Given the description of an element on the screen output the (x, y) to click on. 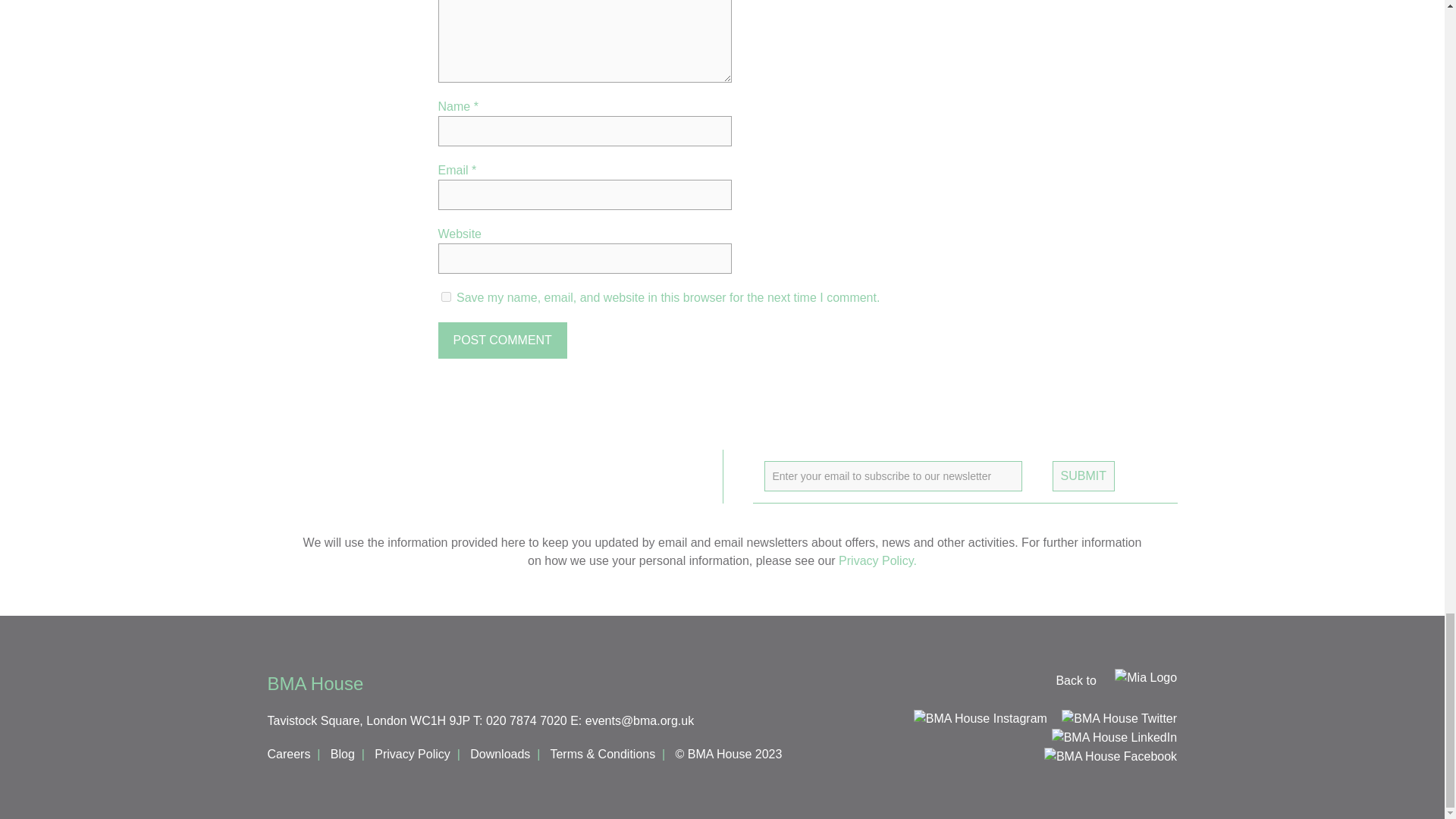
yes (446, 296)
Post Comment (502, 340)
SUBMIT (1083, 476)
